Given the description of an element on the screen output the (x, y) to click on. 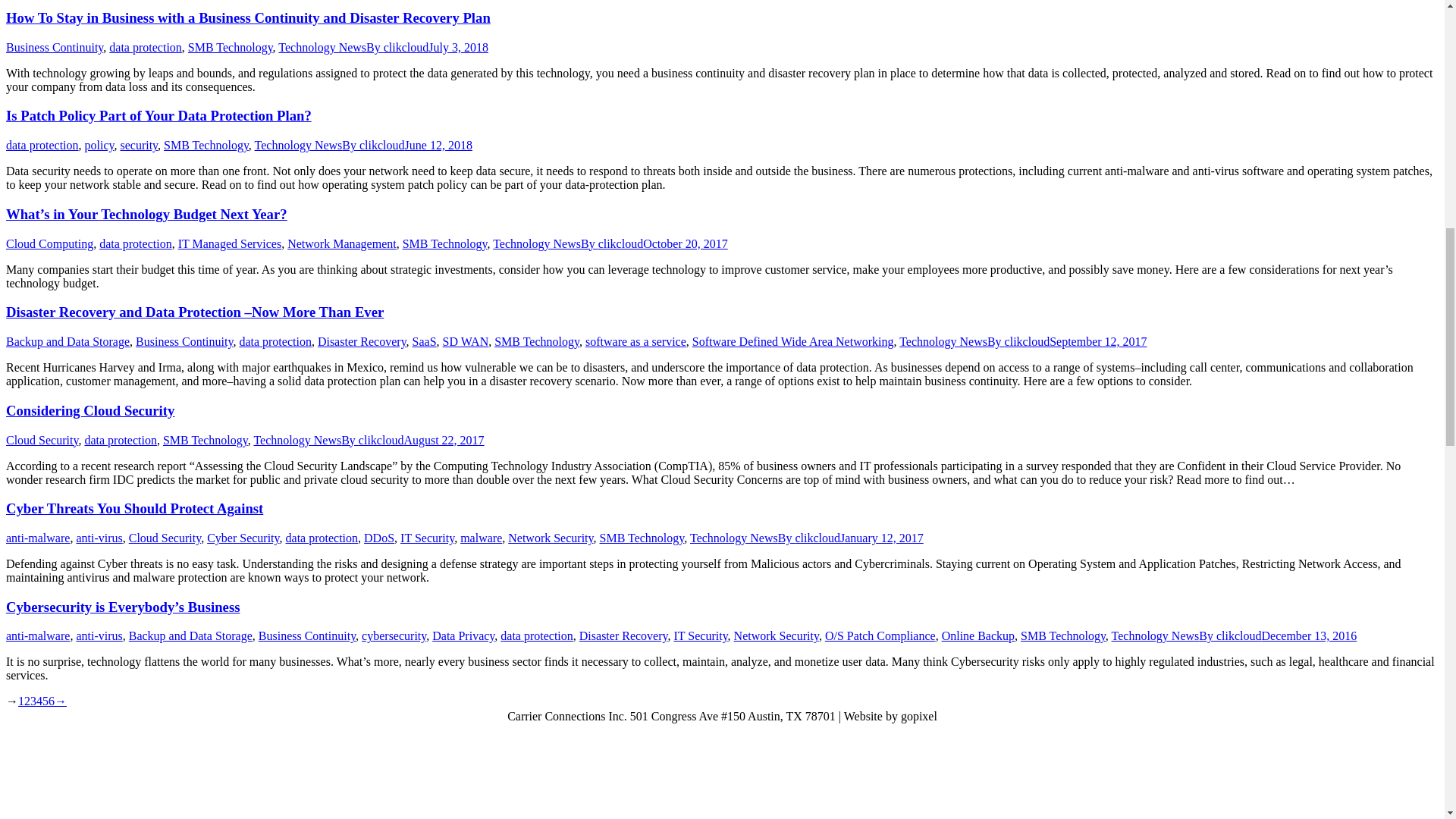
11:42 am (437, 144)
3:42 pm (457, 47)
View all posts by clikcloud (397, 47)
Is Patch Policy Part of Your Data Protection Plan? (158, 115)
View all posts by clikcloud (373, 144)
